Given the description of an element on the screen output the (x, y) to click on. 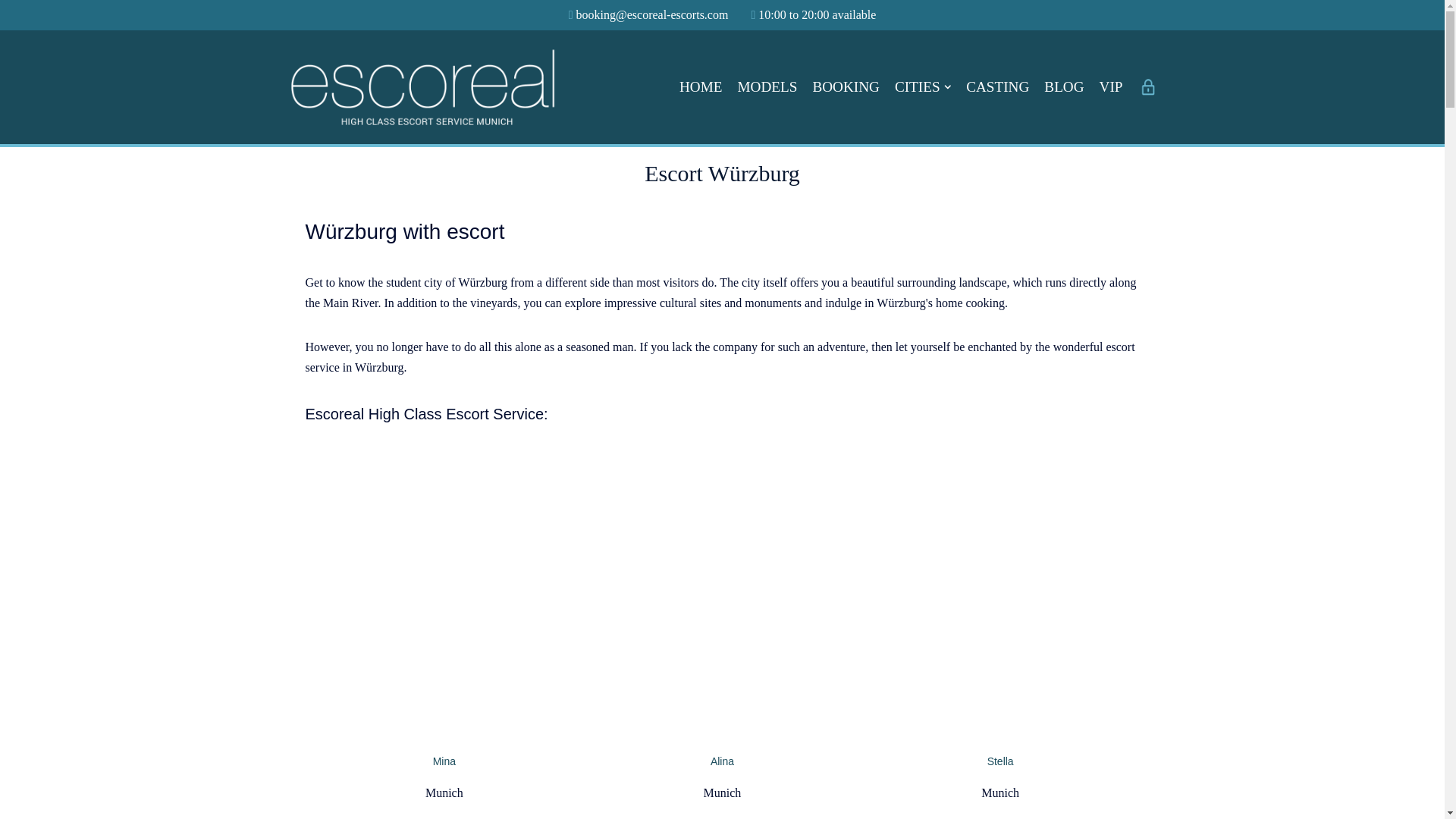
Alina (721, 761)
Alina (722, 596)
Mina (443, 596)
CITIES (922, 86)
Deutsch (1140, 15)
MODELS (767, 86)
BLOG (1063, 86)
HOME (700, 86)
Escoreal (421, 86)
BOOKING (845, 86)
